Given the description of an element on the screen output the (x, y) to click on. 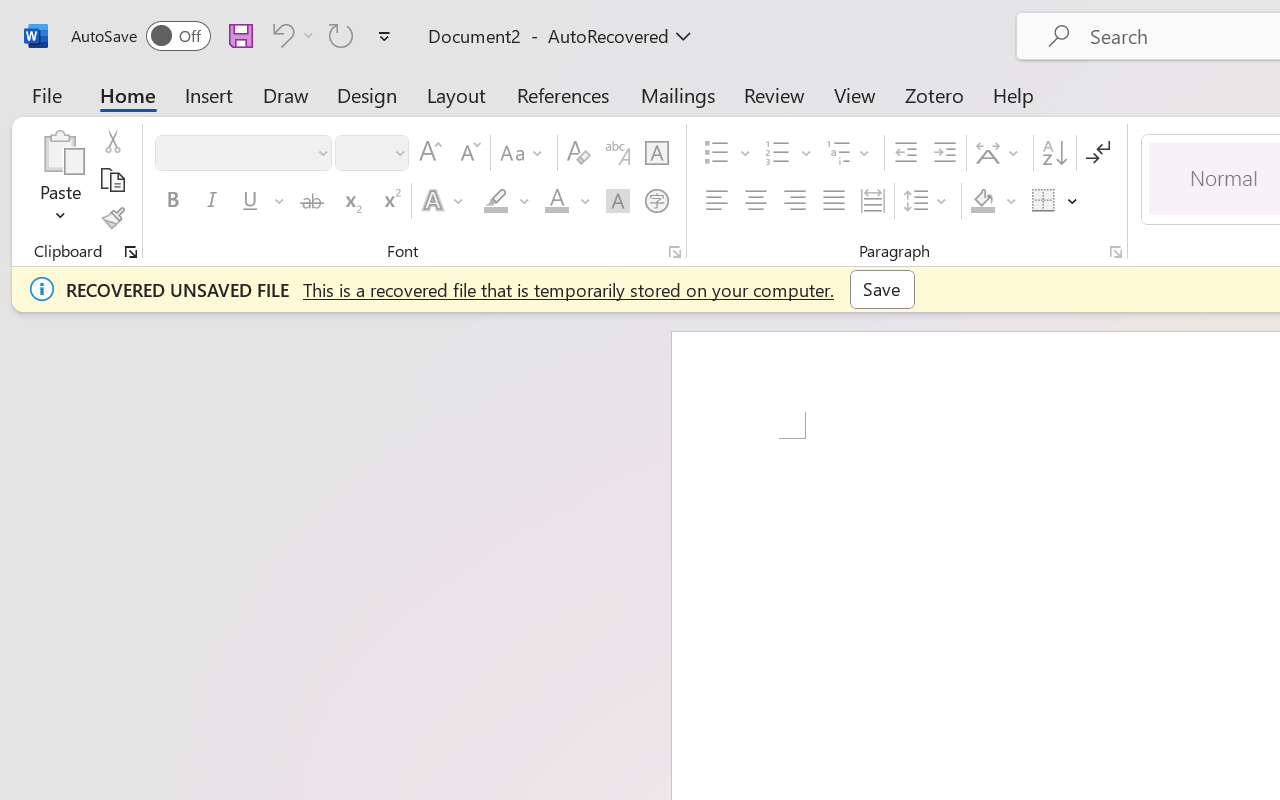
Can't Repeat (341, 35)
Text Highlight Color Yellow (495, 201)
